Given the description of an element on the screen output the (x, y) to click on. 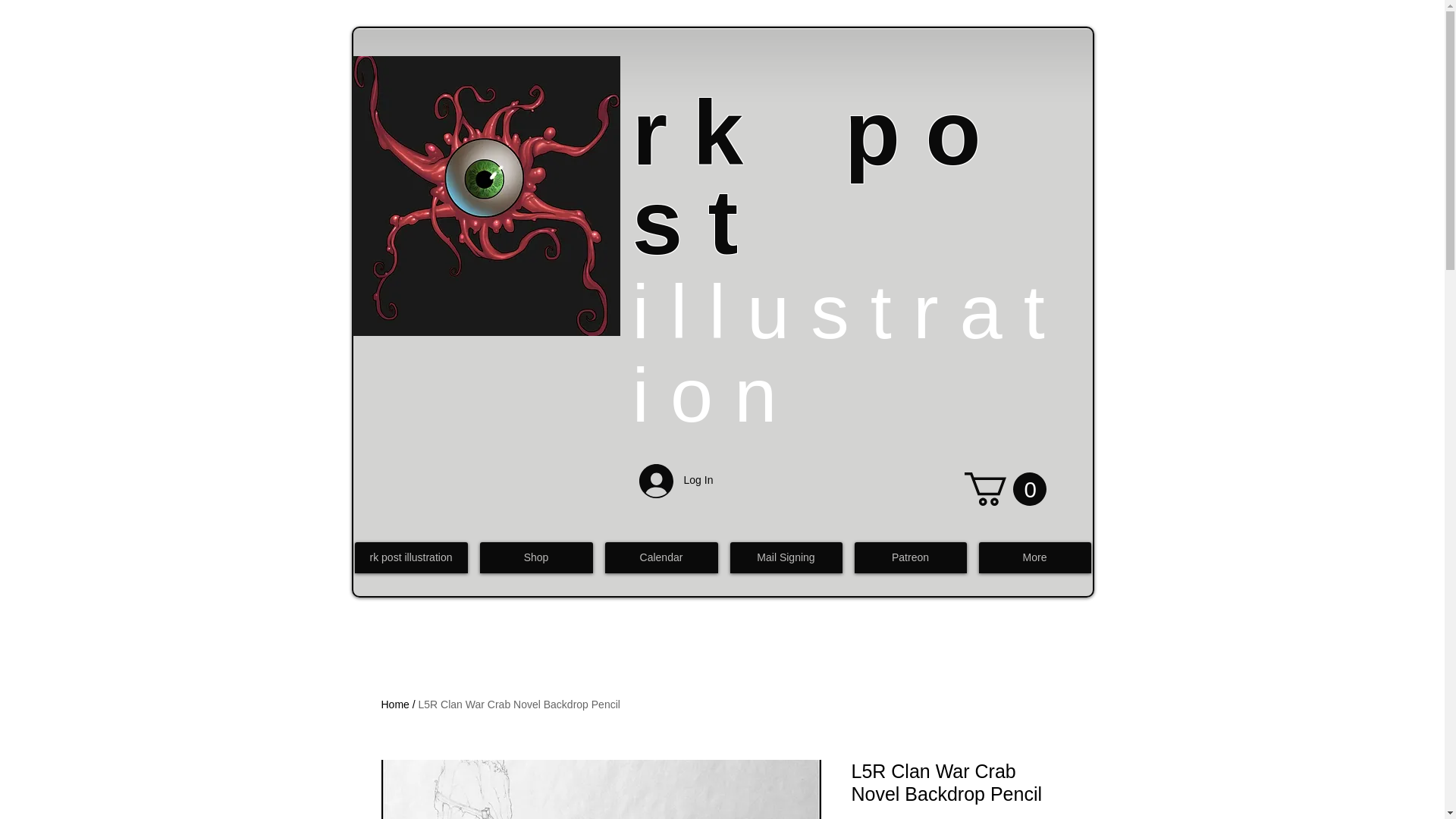
Log In (673, 480)
Patreon (909, 557)
Shop (535, 557)
0 (1004, 489)
Home (394, 704)
Calendar (661, 557)
L5R Clan War Crab Novel Backdrop Pencil (519, 704)
Site Search (843, 69)
0 (1004, 489)
Mail Signing (785, 557)
rk post illustration (411, 557)
